Given the description of an element on the screen output the (x, y) to click on. 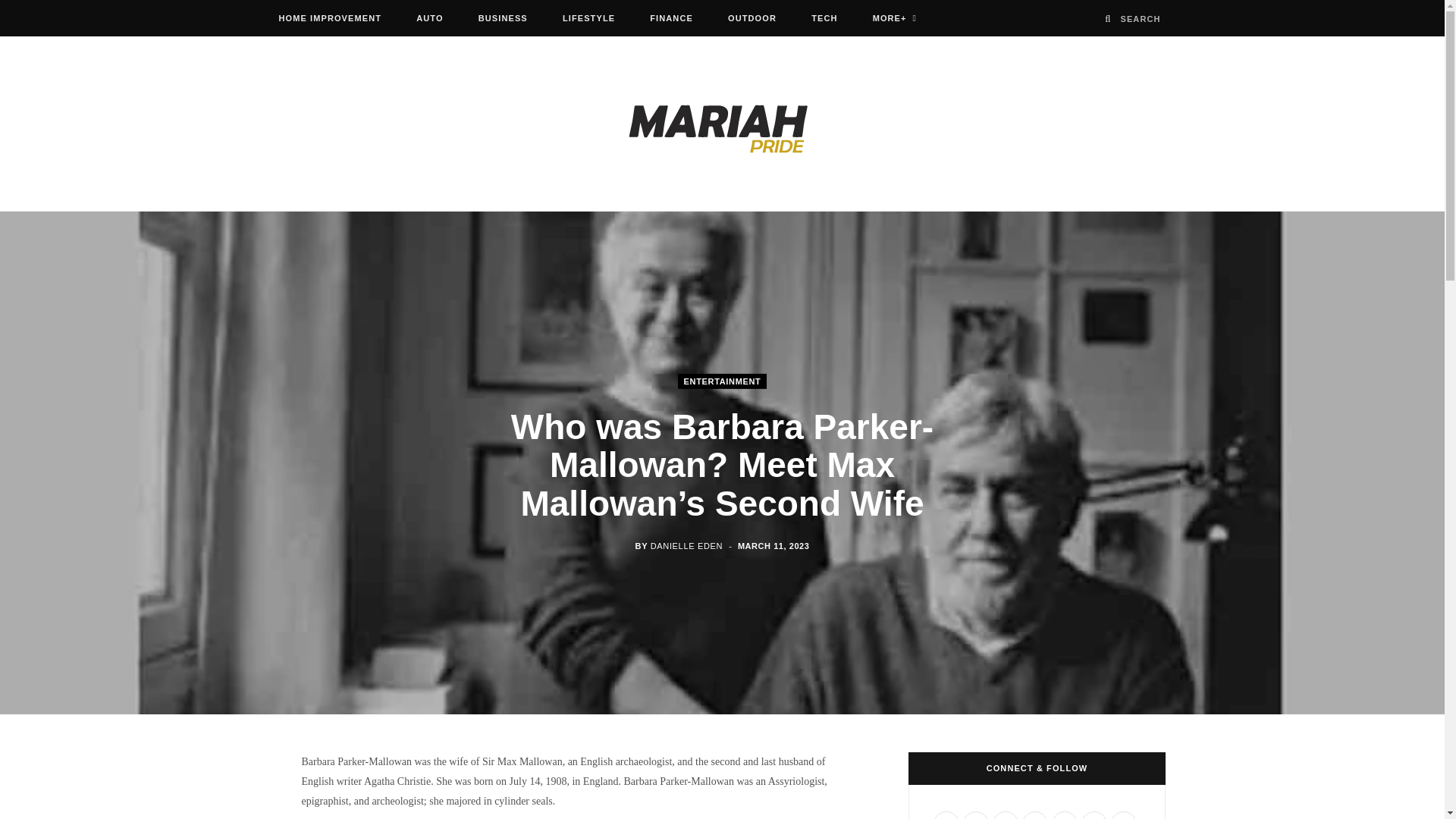
Posts by Danielle Eden (686, 545)
ENTERTAINMENT (722, 380)
Mariah Pride (722, 123)
HOME IMPROVEMENT (329, 18)
AUTO (429, 18)
MARCH 11, 2023 (773, 545)
OUTDOOR (751, 18)
DANIELLE EDEN (686, 545)
FINANCE (671, 18)
LIFESTYLE (588, 18)
BUSINESS (503, 18)
TECH (823, 18)
